Given the description of an element on the screen output the (x, y) to click on. 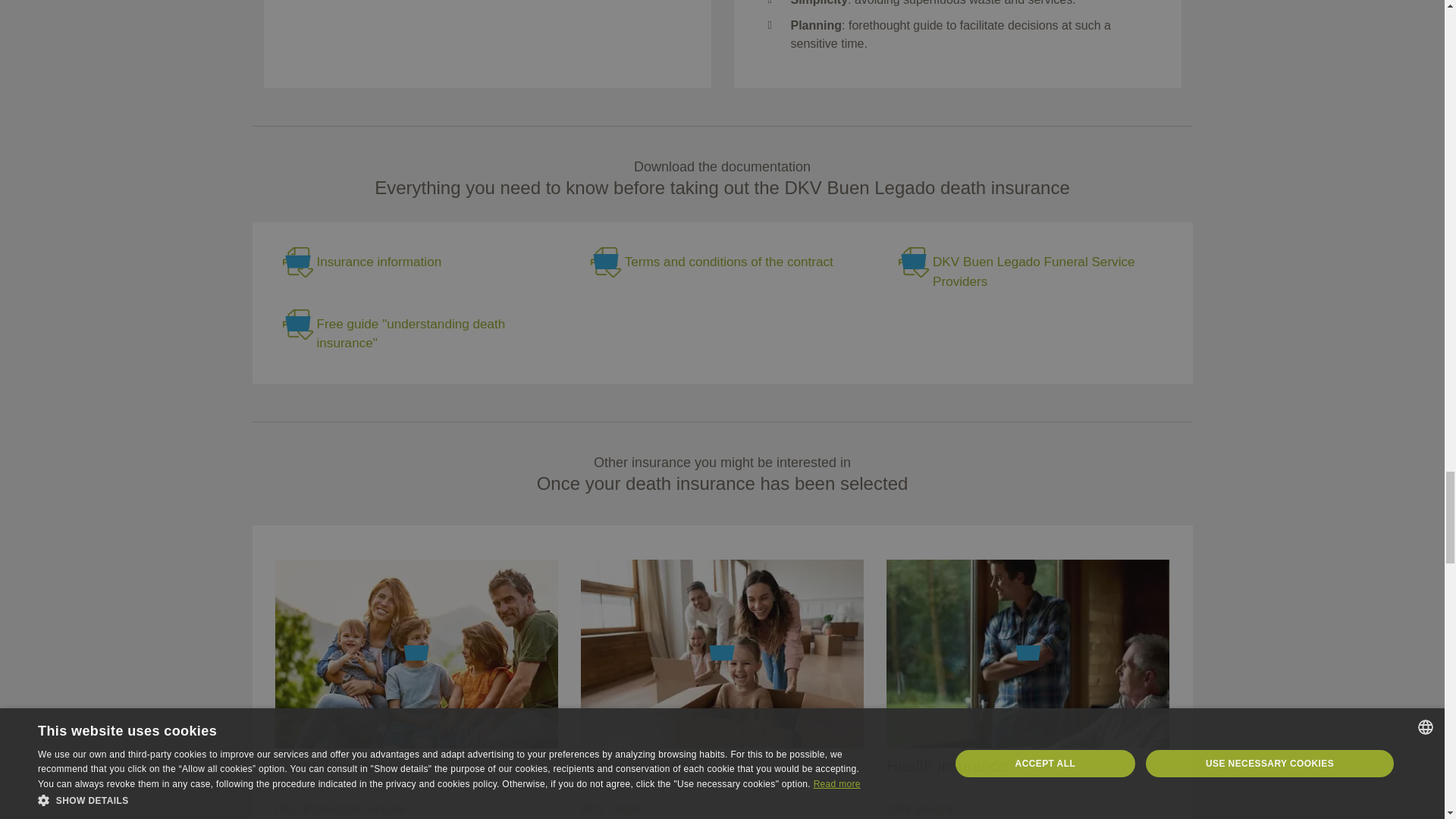
CG.DKV-Proteccion-Familiar (722, 261)
IP.024-DKV-Proteccion-Familiar (413, 261)
Understanding-burials-2024 (413, 333)
Insurance information (413, 261)
Free guide "understanding death insurance" (413, 333)
DKV Buen Legado Funeral Service Providers (1029, 271)
Terms and conditions of the contract (722, 261)
LI.Funerarias-Buen-legado (1029, 271)
